Given the description of an element on the screen output the (x, y) to click on. 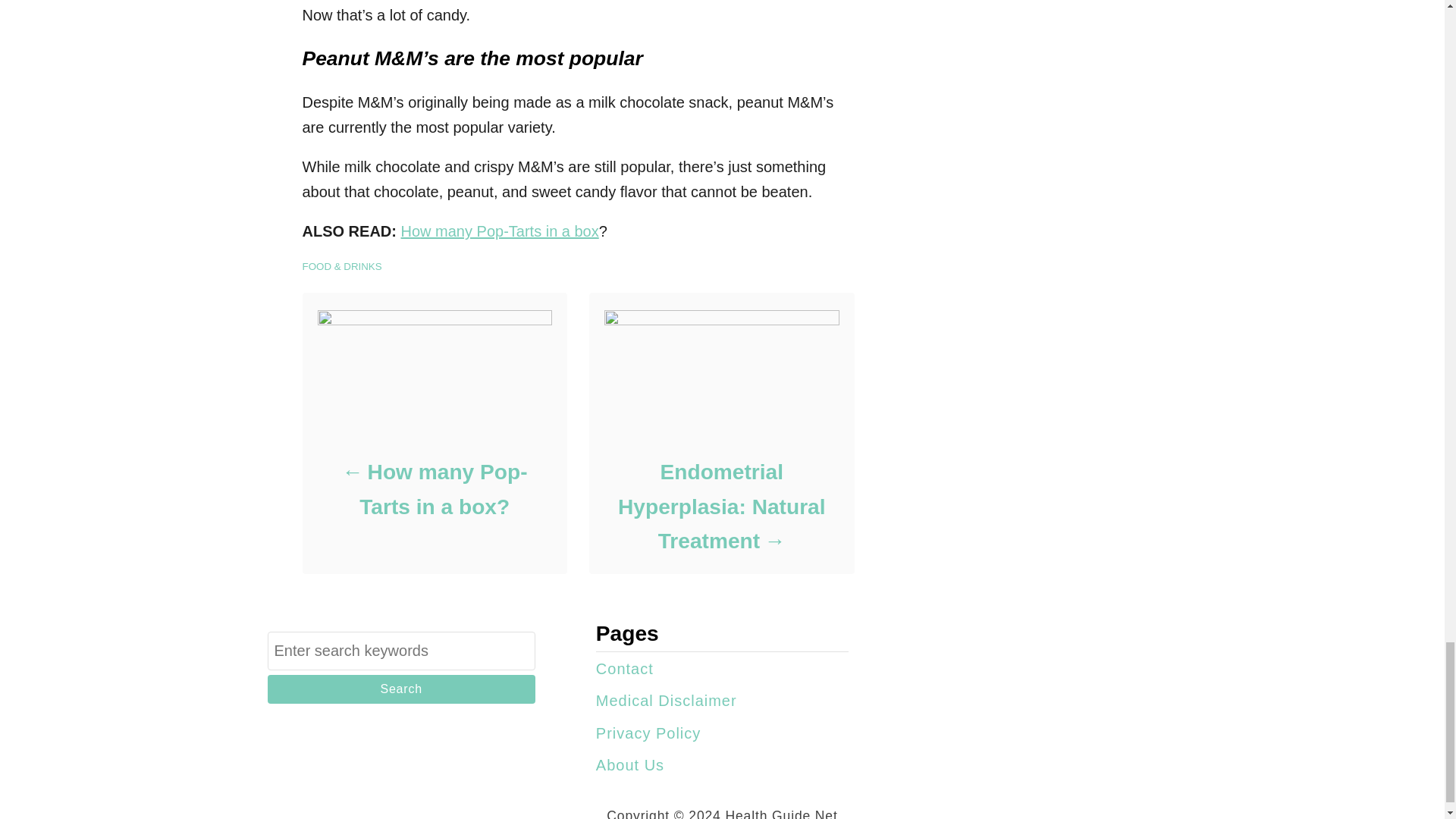
Privacy Policy (647, 733)
Search for: (400, 650)
How many Pop-Tarts in a box (499, 230)
Endometrial Hyperplasia: Natural Treatment (721, 506)
How many Pop-Tarts in a box? (434, 489)
Medical Disclaimer (665, 700)
Contact (624, 668)
Search (400, 688)
Search (400, 688)
Search (400, 688)
